Given the description of an element on the screen output the (x, y) to click on. 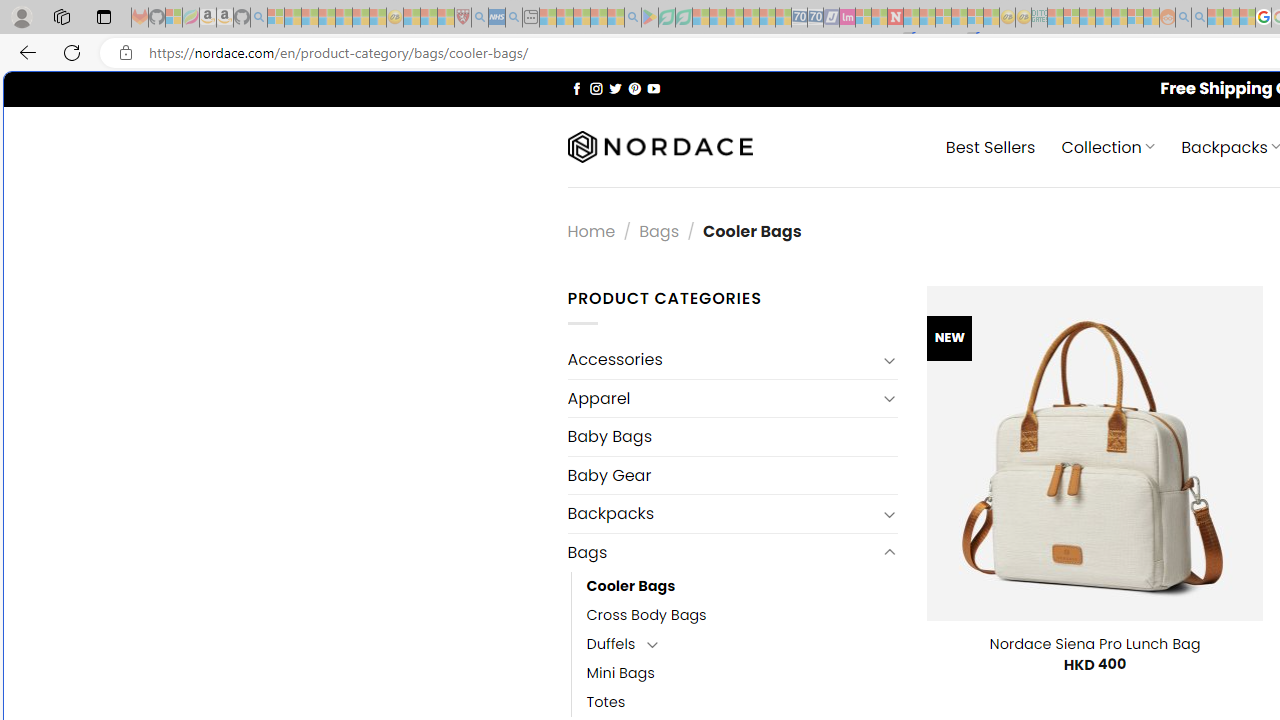
Baby Bags (732, 435)
Baby Gear (732, 475)
Cooler Bags (630, 585)
